Given the description of an element on the screen output the (x, y) to click on. 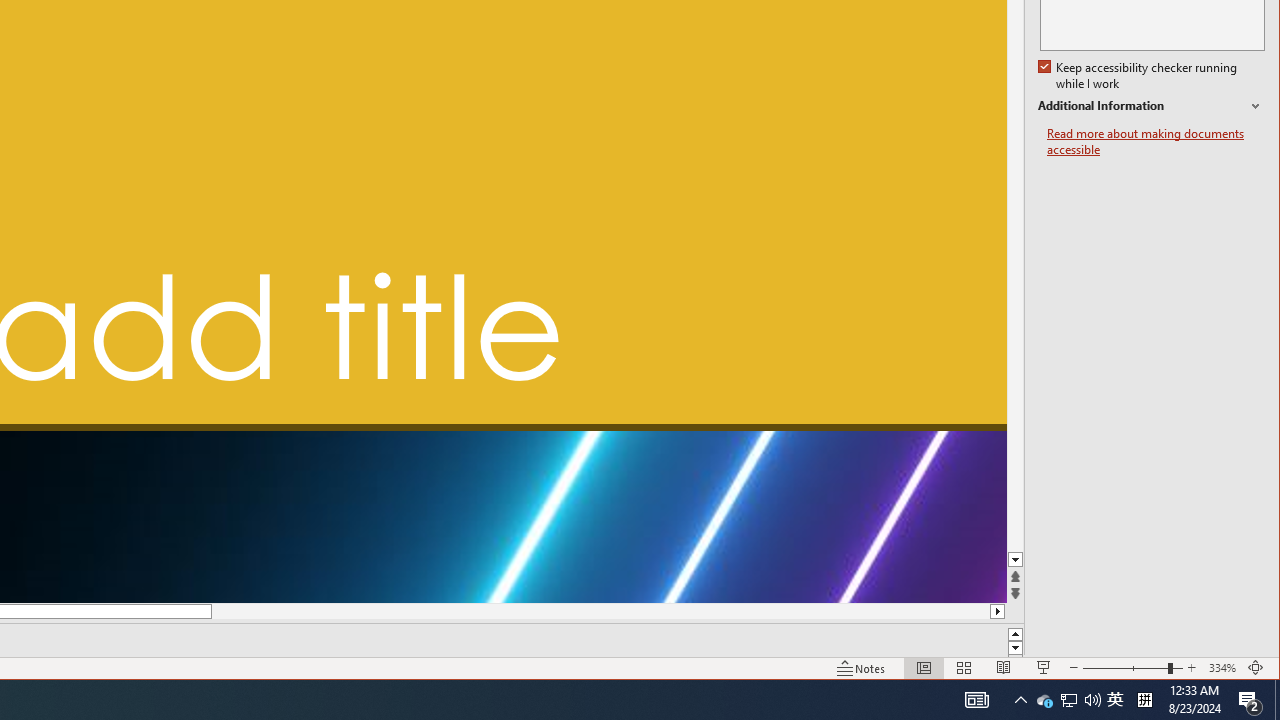
Zoom 334% (1222, 668)
